Given the description of an element on the screen output the (x, y) to click on. 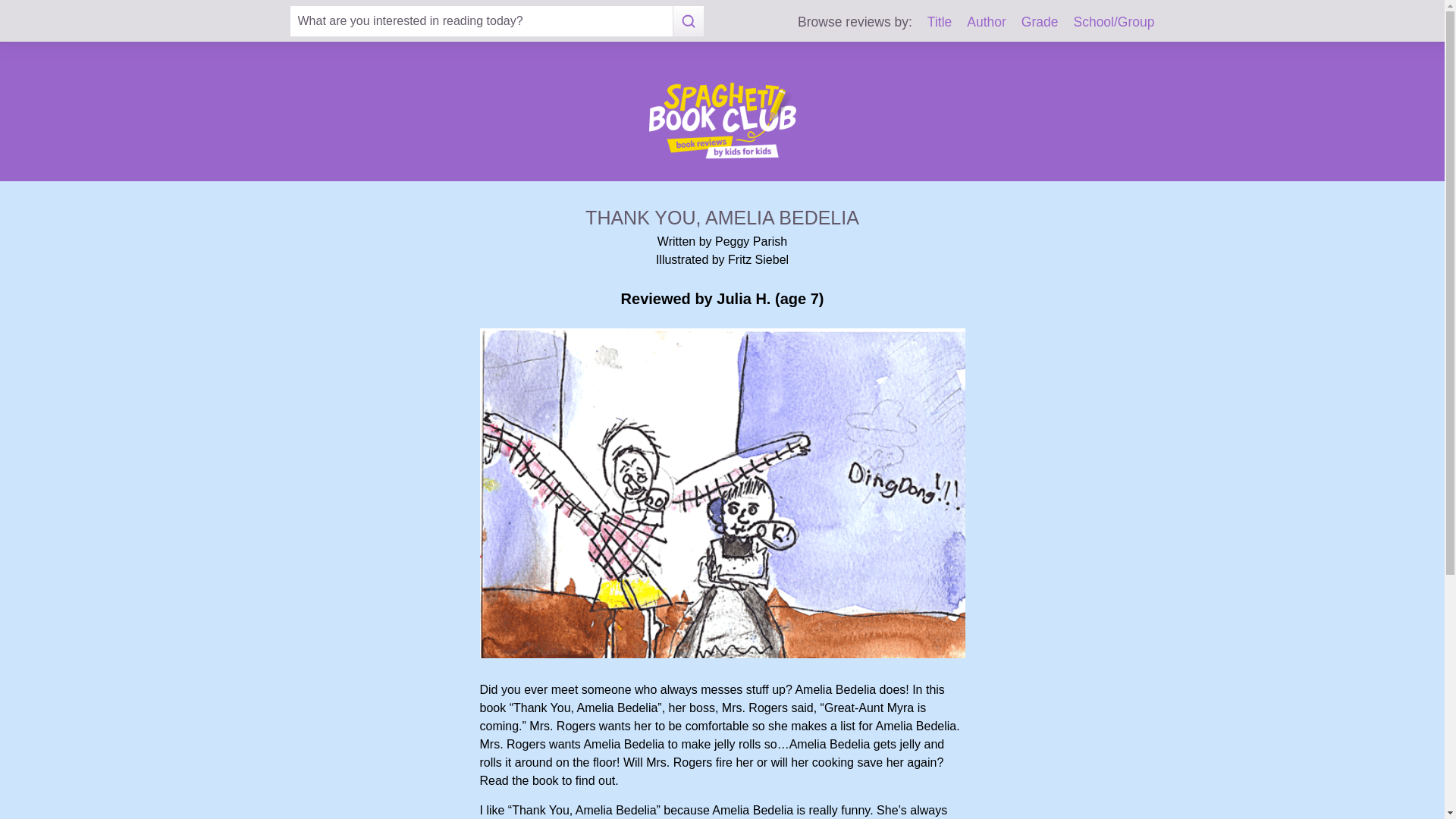
Title (939, 21)
Grade (1040, 21)
Author (986, 21)
